Given the description of an element on the screen output the (x, y) to click on. 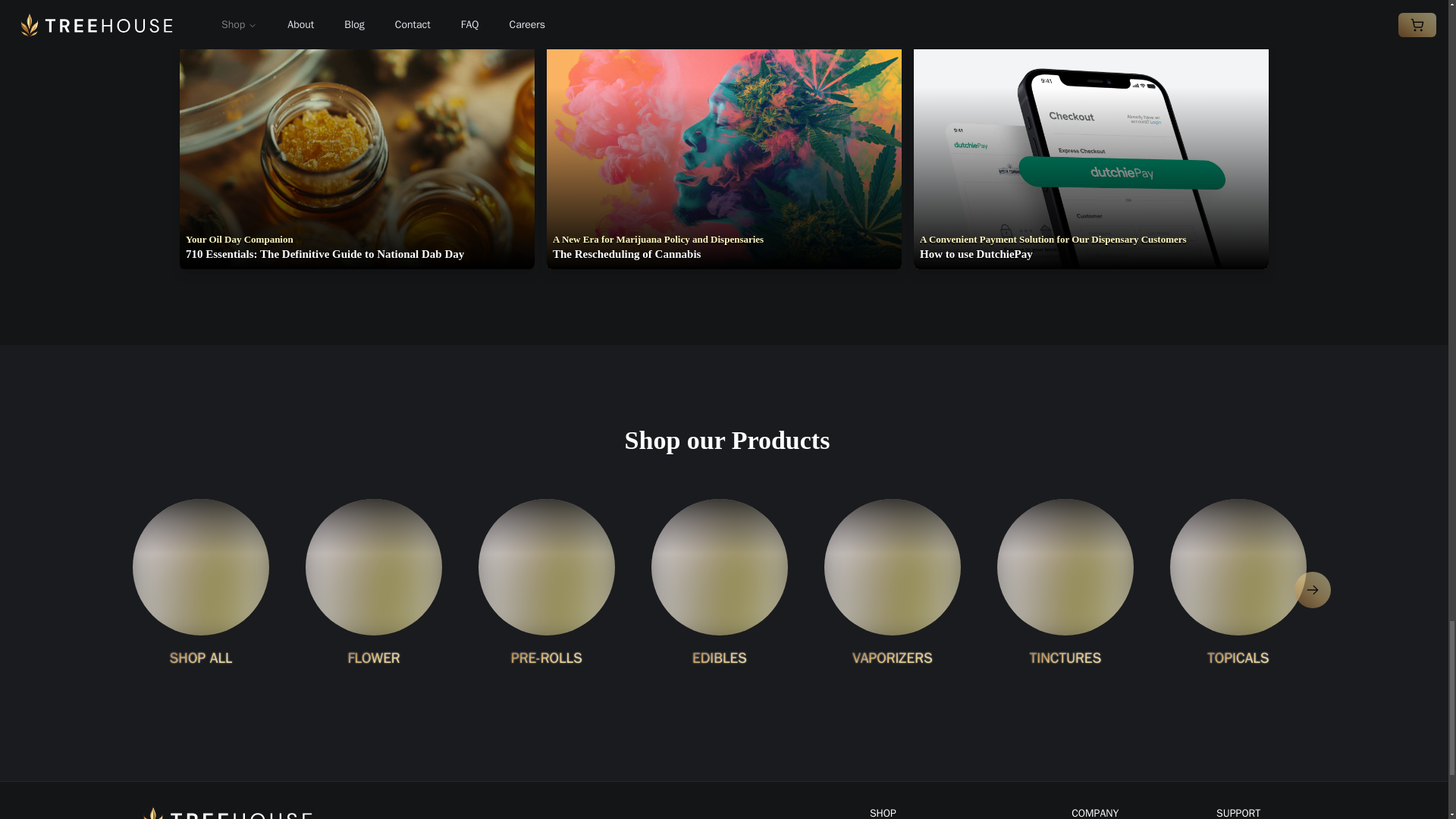
Next slide (1312, 589)
